Given the description of an element on the screen output the (x, y) to click on. 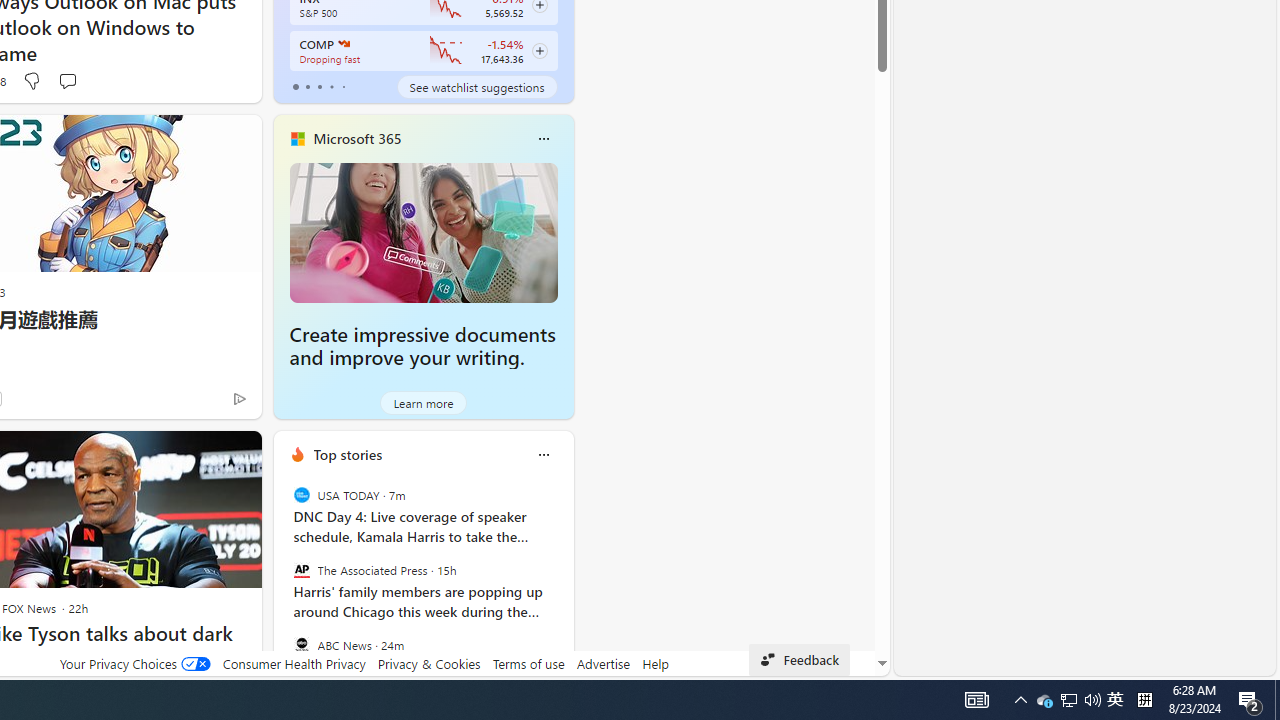
Hide this story (201, 454)
The Associated Press (301, 570)
tab-4 (342, 86)
previous (283, 583)
Class: follow-button  m (539, 51)
Create impressive documents and improve your writing. (423, 232)
Learn more (423, 402)
